Given the description of an element on the screen output the (x, y) to click on. 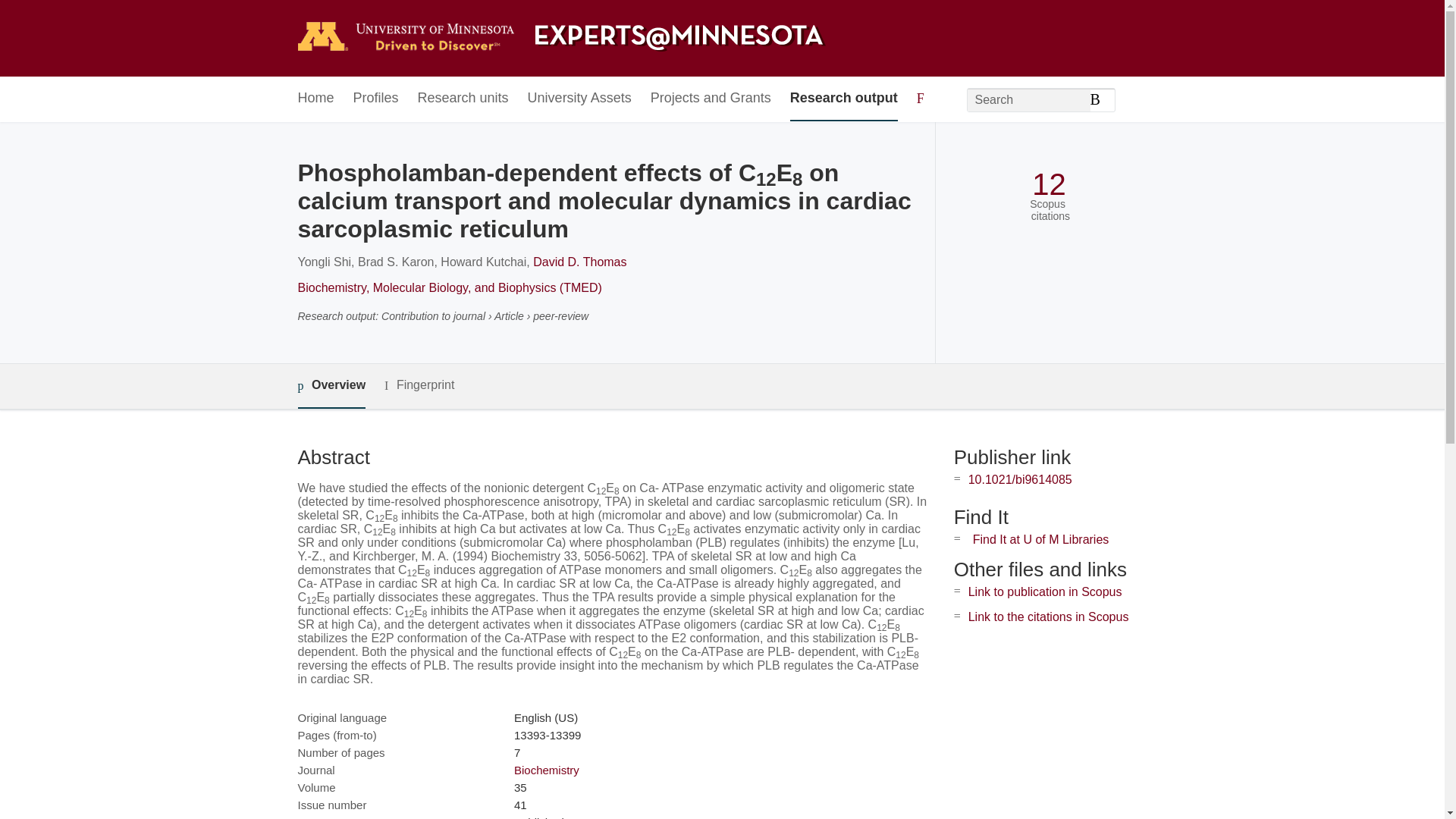
12 (1048, 184)
Fingerprint (419, 385)
University Assets (579, 98)
Find It at U of M Libraries (1040, 539)
Research units (462, 98)
Projects and Grants (710, 98)
Research output (844, 98)
Biochemistry (546, 769)
Link to the citations in Scopus (1048, 616)
